Given the description of an element on the screen output the (x, y) to click on. 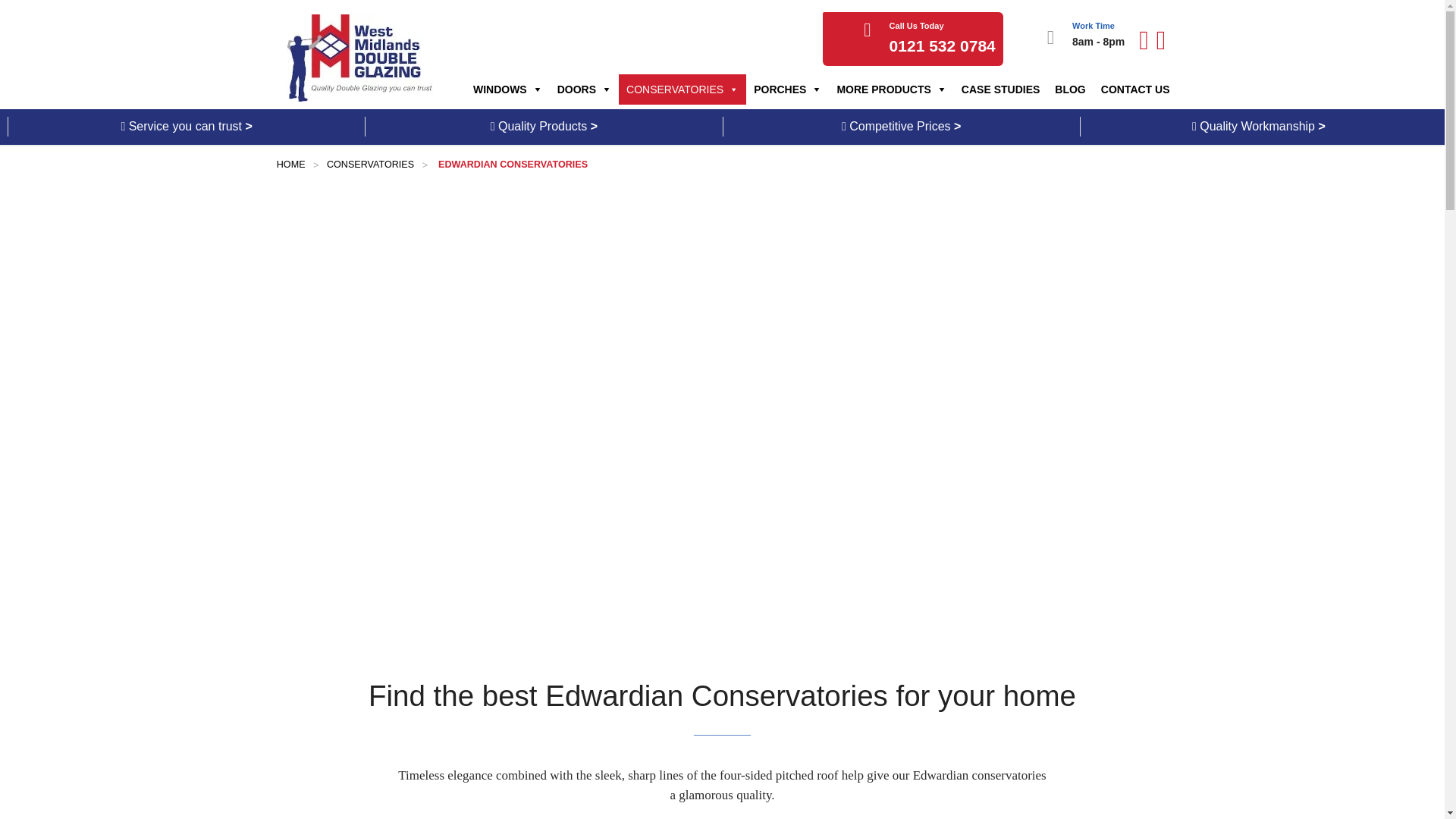
0121 532 0784 (942, 45)
CONSERVATORIES (681, 89)
WINDOWS (507, 89)
Conservatories (369, 163)
West Midlands Double Glazing (365, 61)
DOORS (584, 89)
Edwardian Conservatories (511, 163)
